Given the description of an element on the screen output the (x, y) to click on. 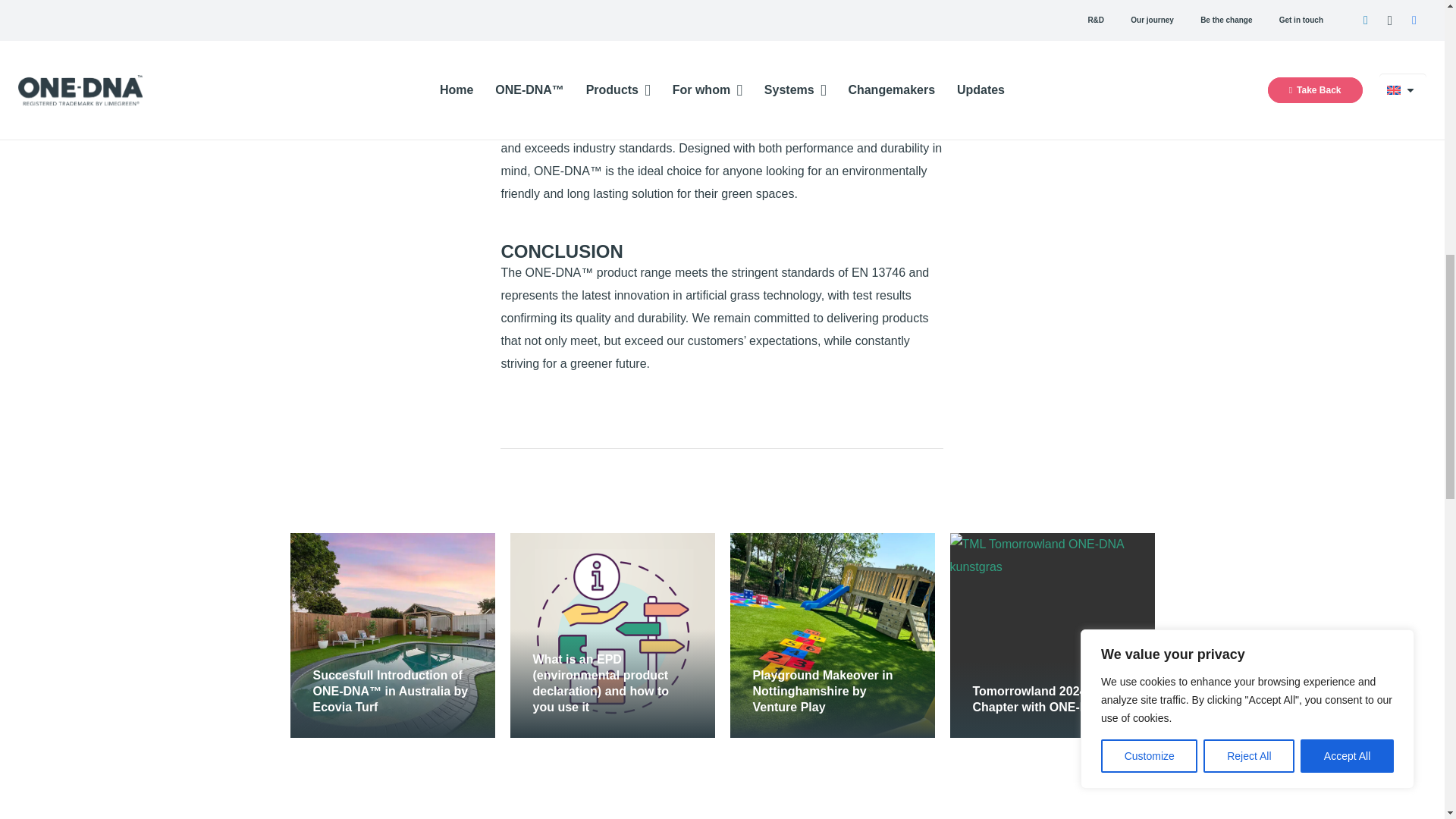
Back to top (1413, 26)
